Given the description of an element on the screen output the (x, y) to click on. 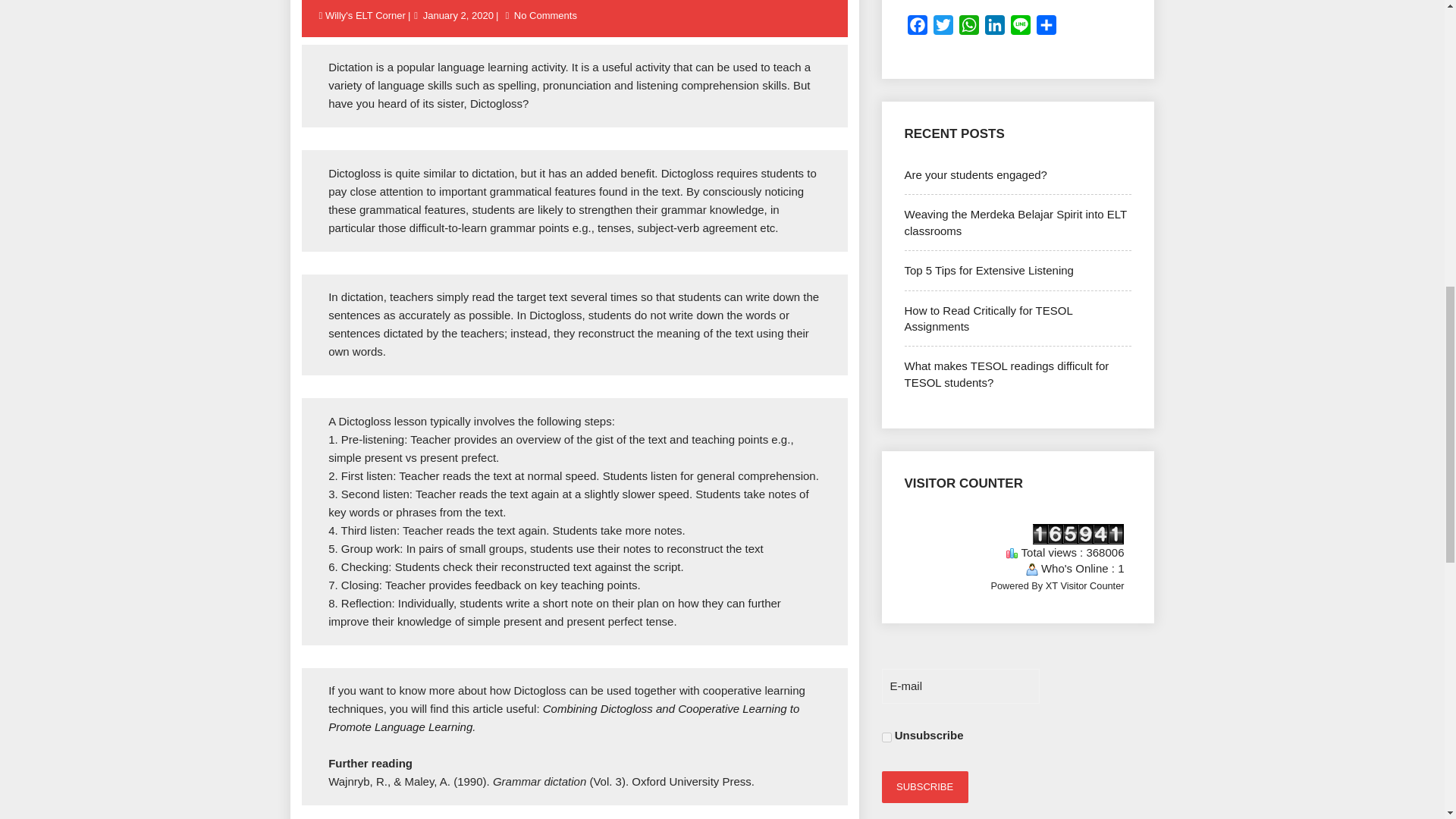
Willy's ELT Corner (365, 15)
January 2, 2020 (458, 15)
Facebook (917, 27)
No Comments (545, 15)
WhatsApp (968, 27)
Line (1019, 27)
Twitter (942, 27)
LinkedIn (994, 27)
yes (885, 737)
Subscribe (924, 787)
